Given the description of an element on the screen output the (x, y) to click on. 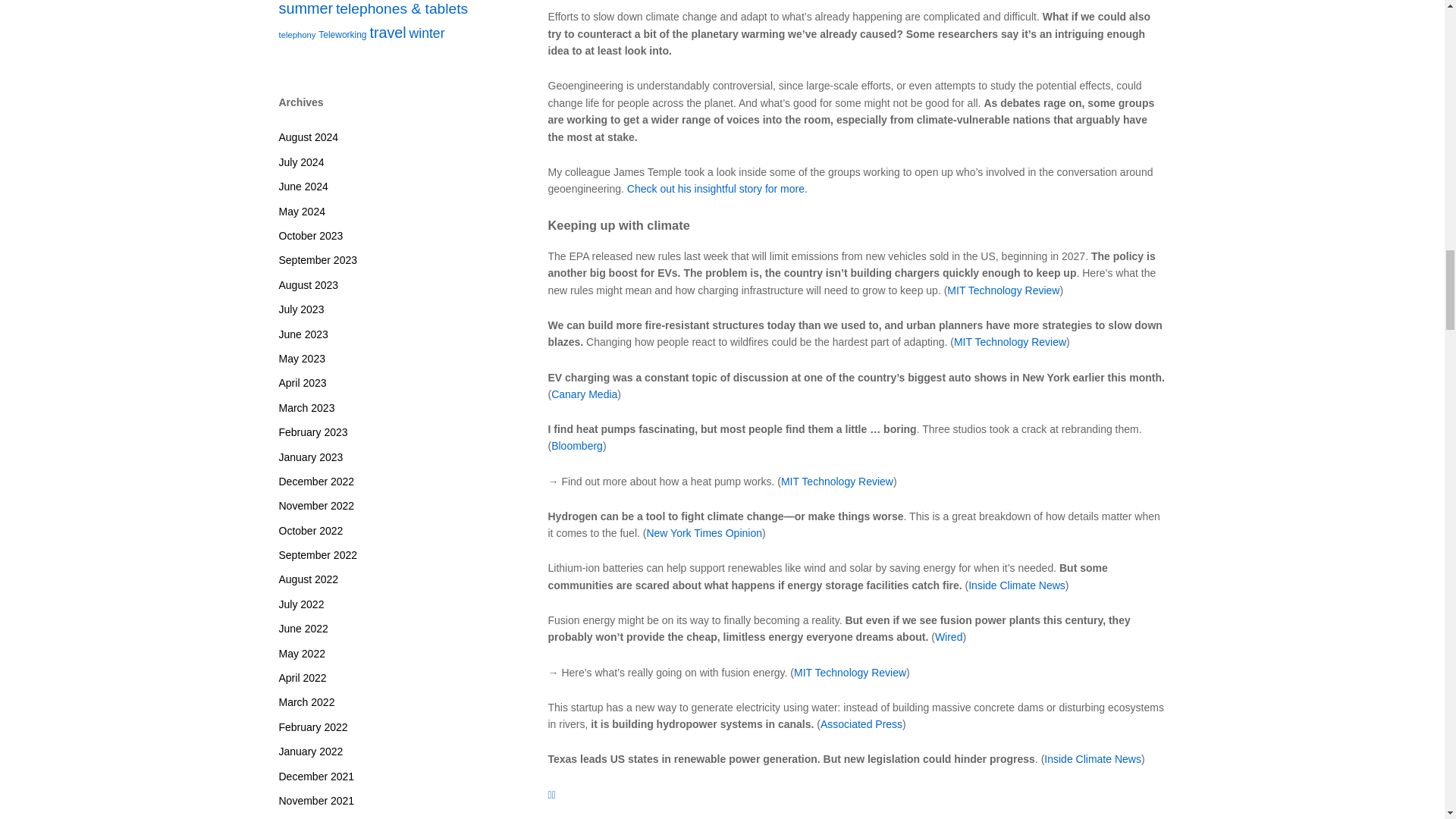
MIT Technology Review (1003, 290)
Check out his insightful story for more. (717, 188)
